Given the description of an element on the screen output the (x, y) to click on. 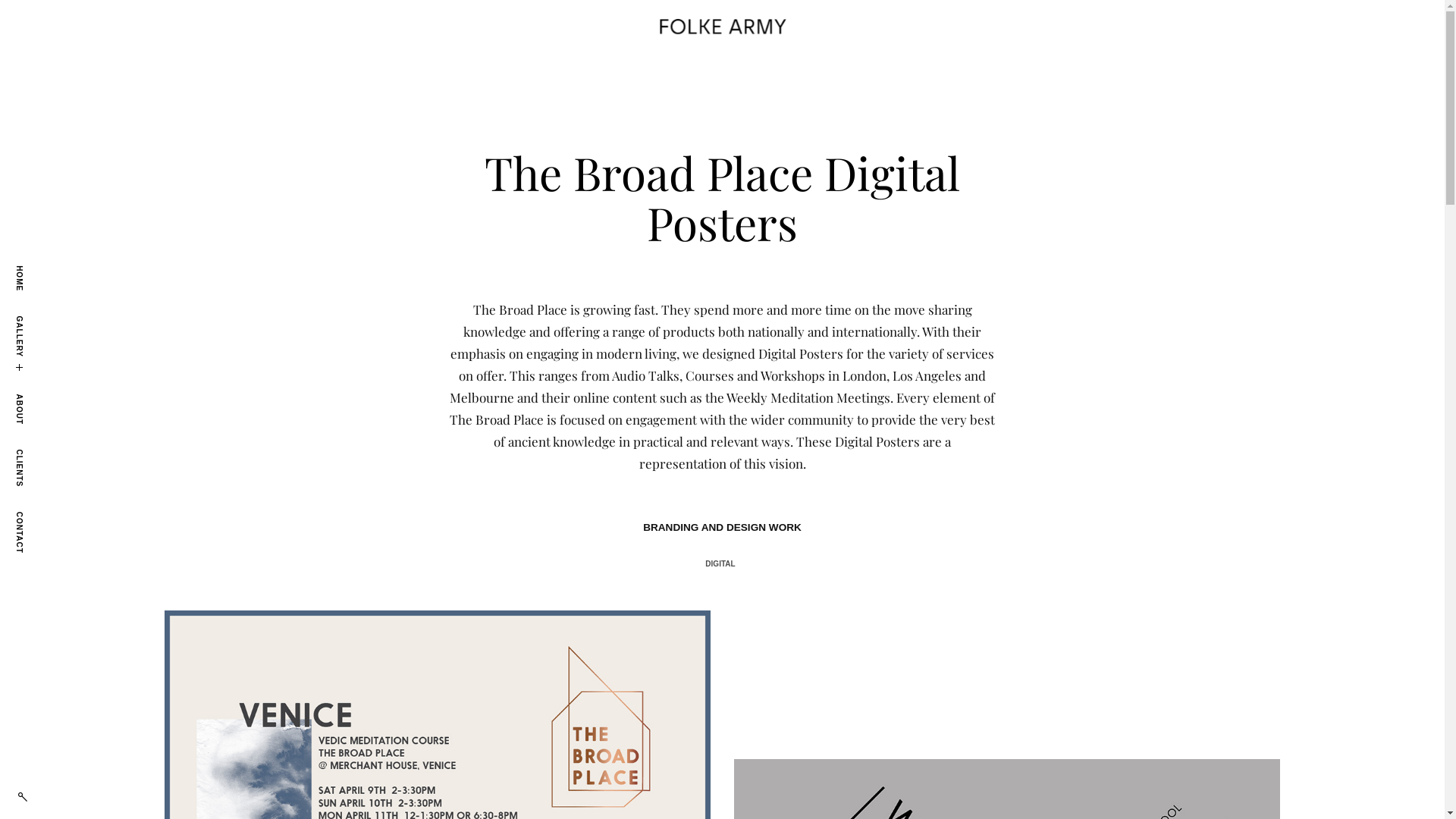
HOME Element type: text (27, 268)
GALLERY Element type: text (35, 319)
Search Element type: text (40, 17)
CLIENTS Element type: text (33, 452)
CONTACT Element type: text (35, 515)
toggle child menu Element type: text (18, 367)
ABOUT Element type: text (30, 397)
open search form Element type: text (22, 796)
DIGITAL Element type: text (719, 563)
